Given the description of an element on the screen output the (x, y) to click on. 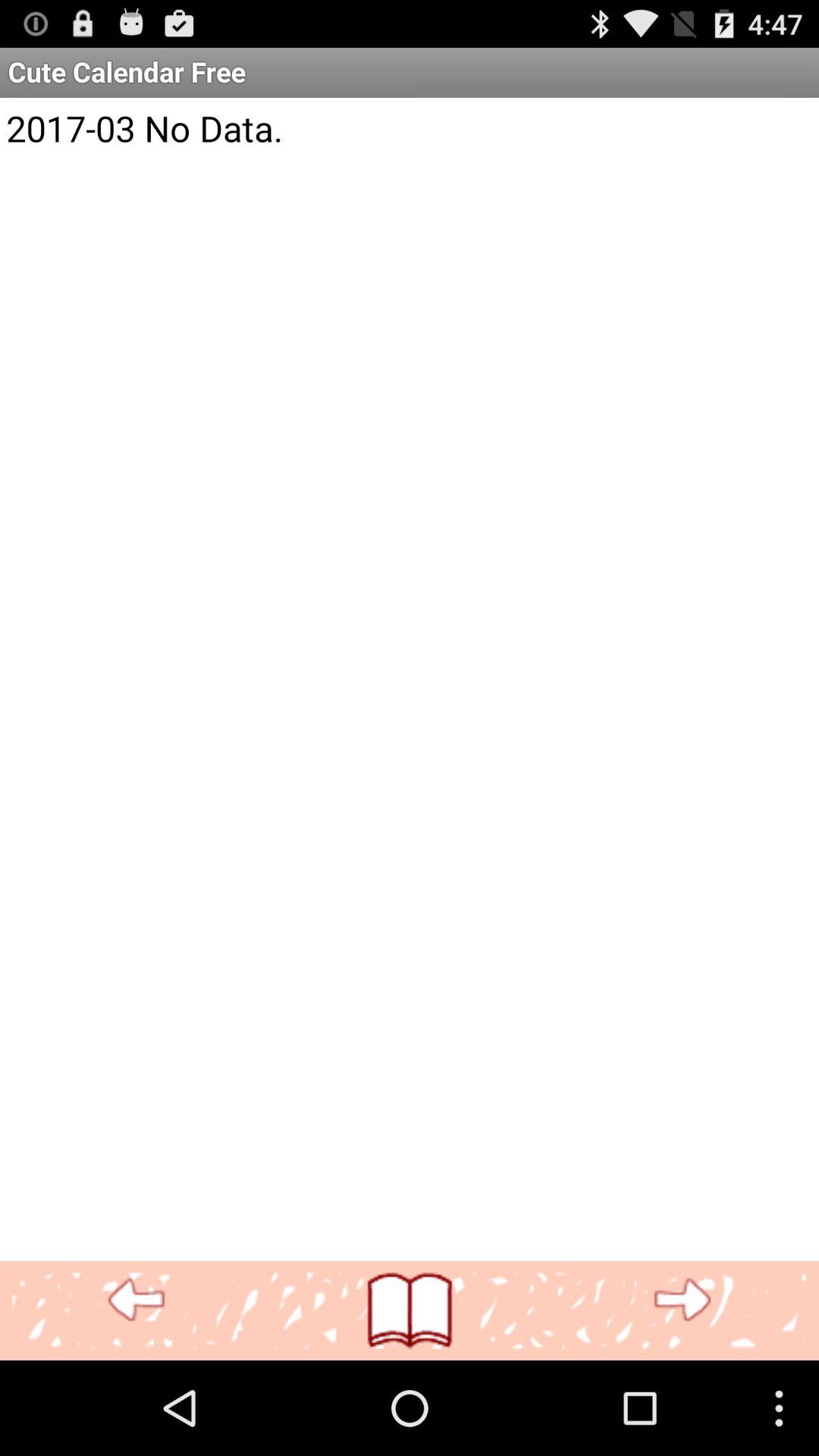
advance to next page (682, 1300)
